Given the description of an element on the screen output the (x, y) to click on. 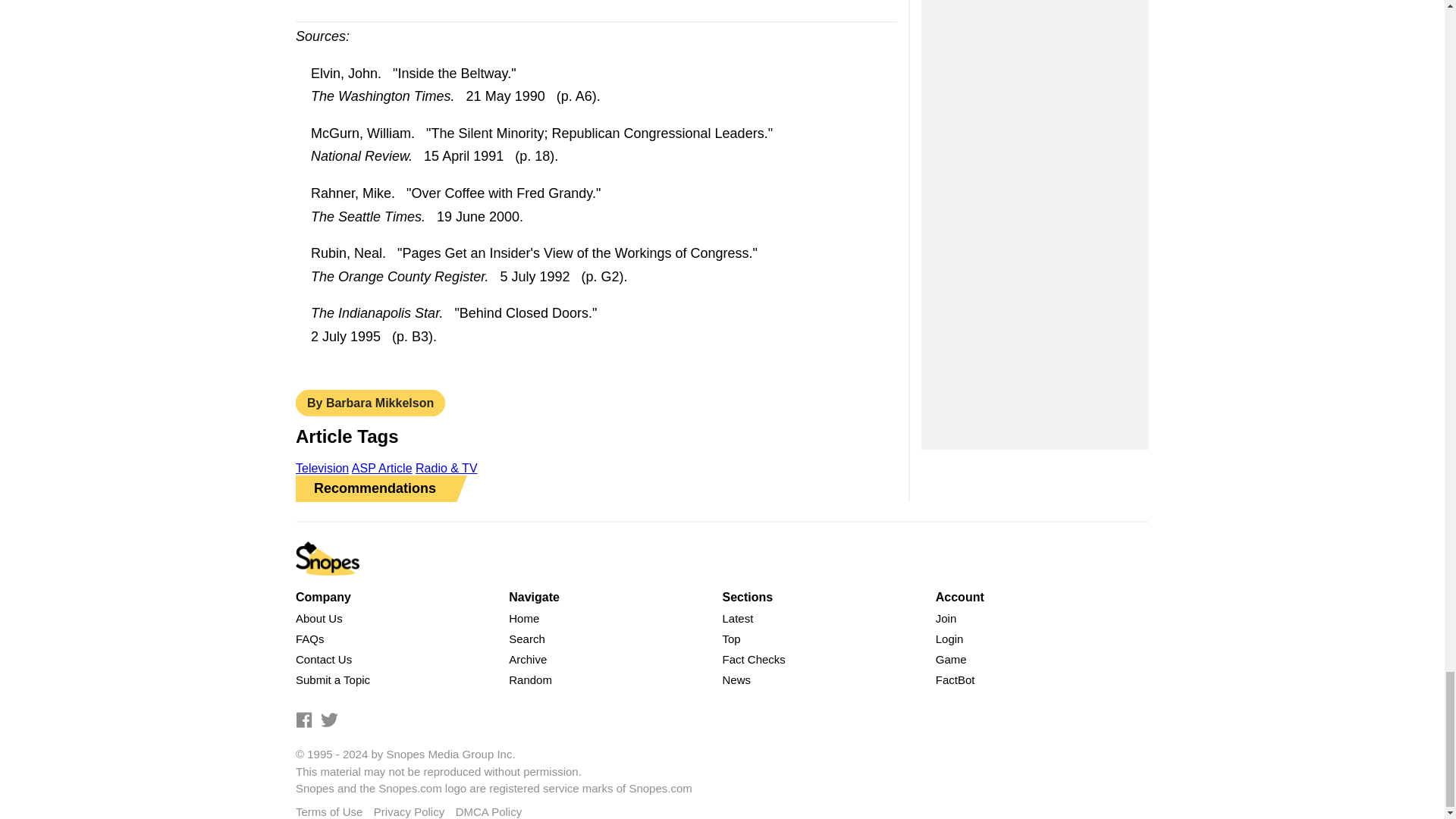
By Barbara Mikkelson (370, 402)
Television (322, 468)
